Given the description of an element on the screen output the (x, y) to click on. 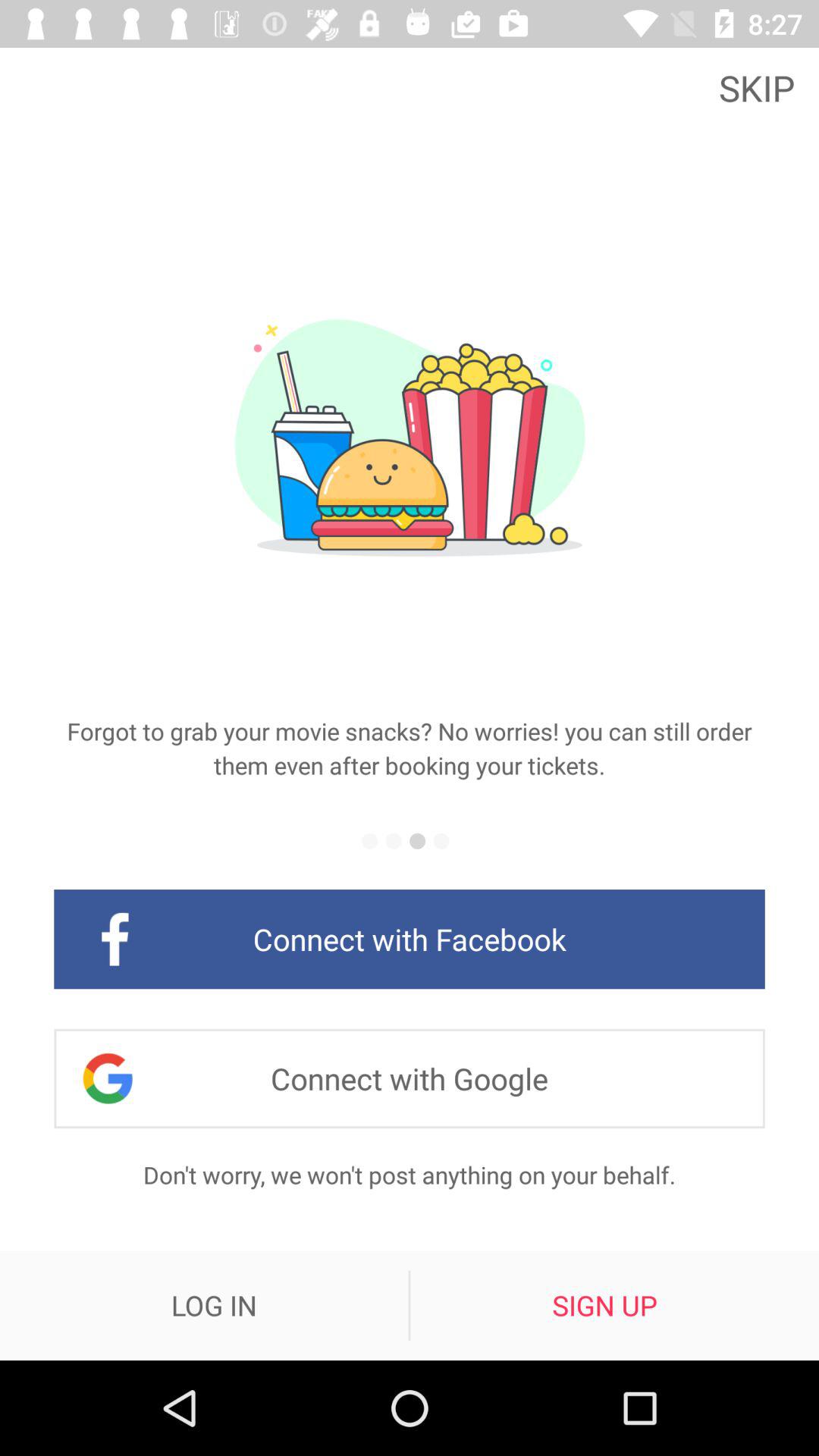
tap the skip at the top right corner (760, 87)
